Given the description of an element on the screen output the (x, y) to click on. 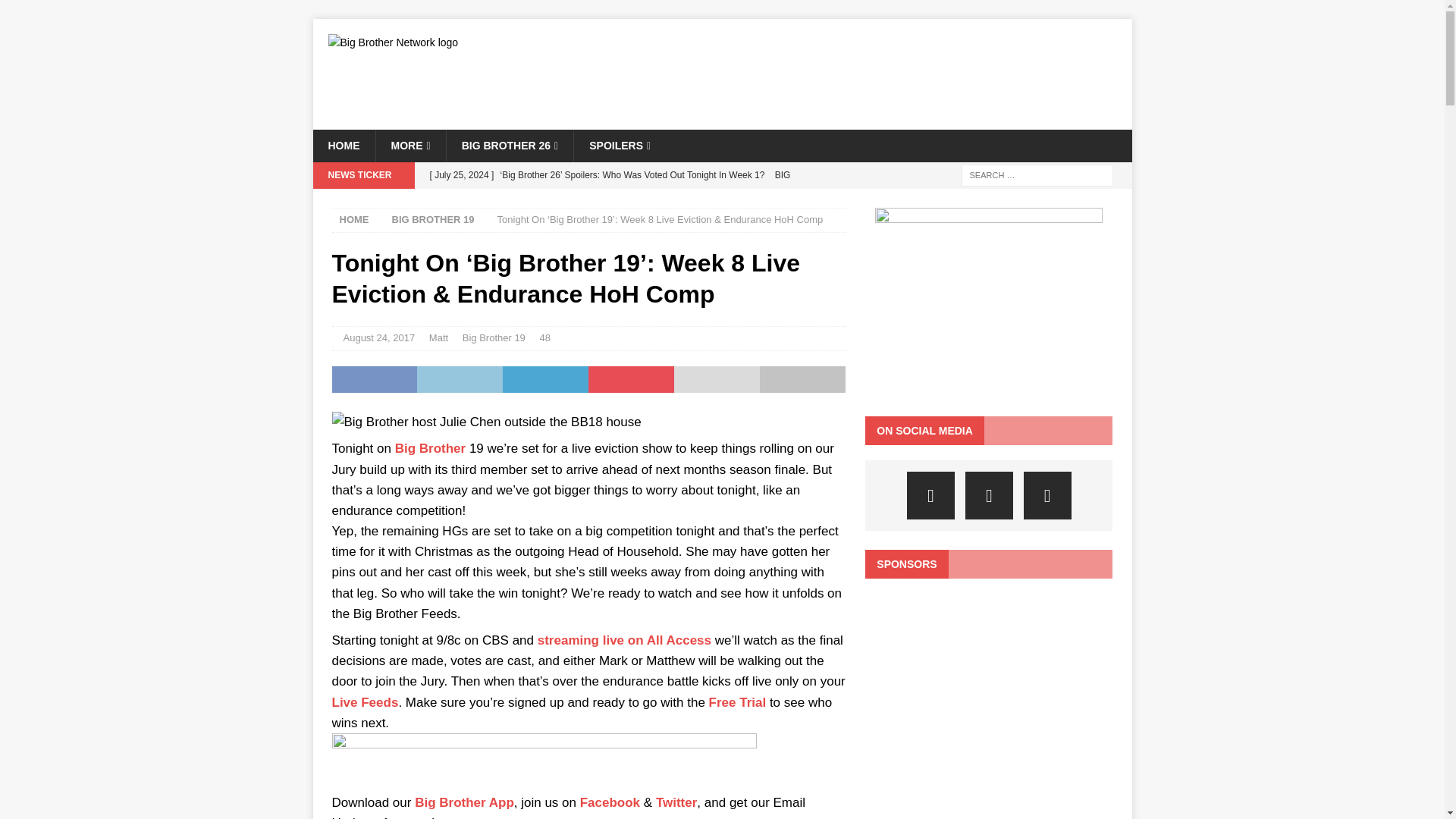
HOME (343, 145)
BIG BROTHER 26 (509, 145)
MORE (409, 145)
